Given the description of an element on the screen output the (x, y) to click on. 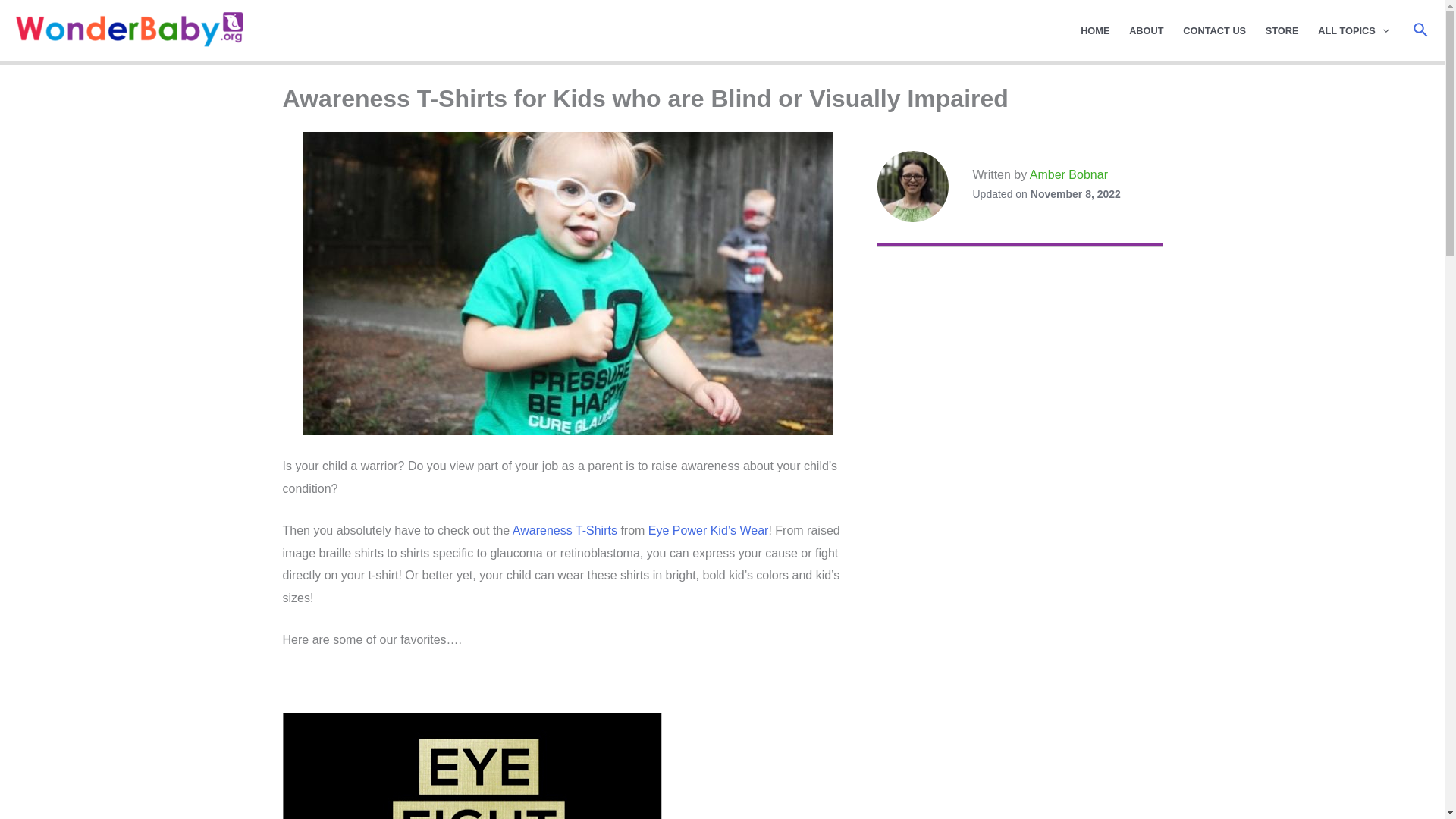
CONTACT US (1214, 30)
ALL TOPICS (1352, 30)
STORE (1281, 30)
ABOUT (1146, 30)
HOME (1094, 30)
